Given the description of an element on the screen output the (x, y) to click on. 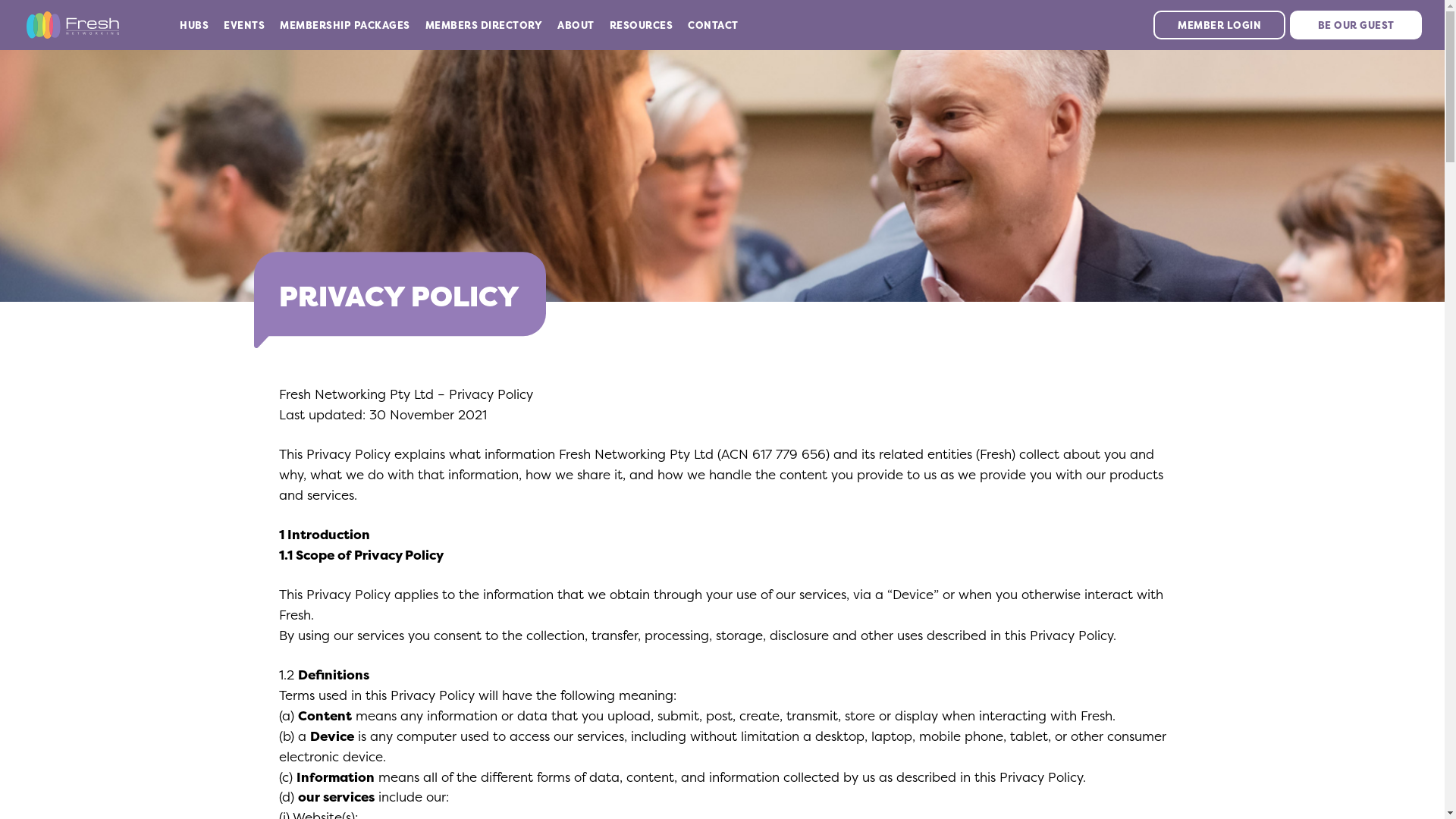
RESOURCES Element type: text (641, 24)
MEMBER LOGIN Element type: text (1219, 24)
ABOUT Element type: text (575, 24)
EVENTS Element type: text (243, 24)
BE OUR GUEST Element type: text (1355, 24)
CONTACT Element type: text (712, 24)
HUBS Element type: text (193, 24)
MEMBERS DIRECTORY Element type: text (483, 24)
MEMBERSHIP PACKAGES Element type: text (344, 24)
